Given the description of an element on the screen output the (x, y) to click on. 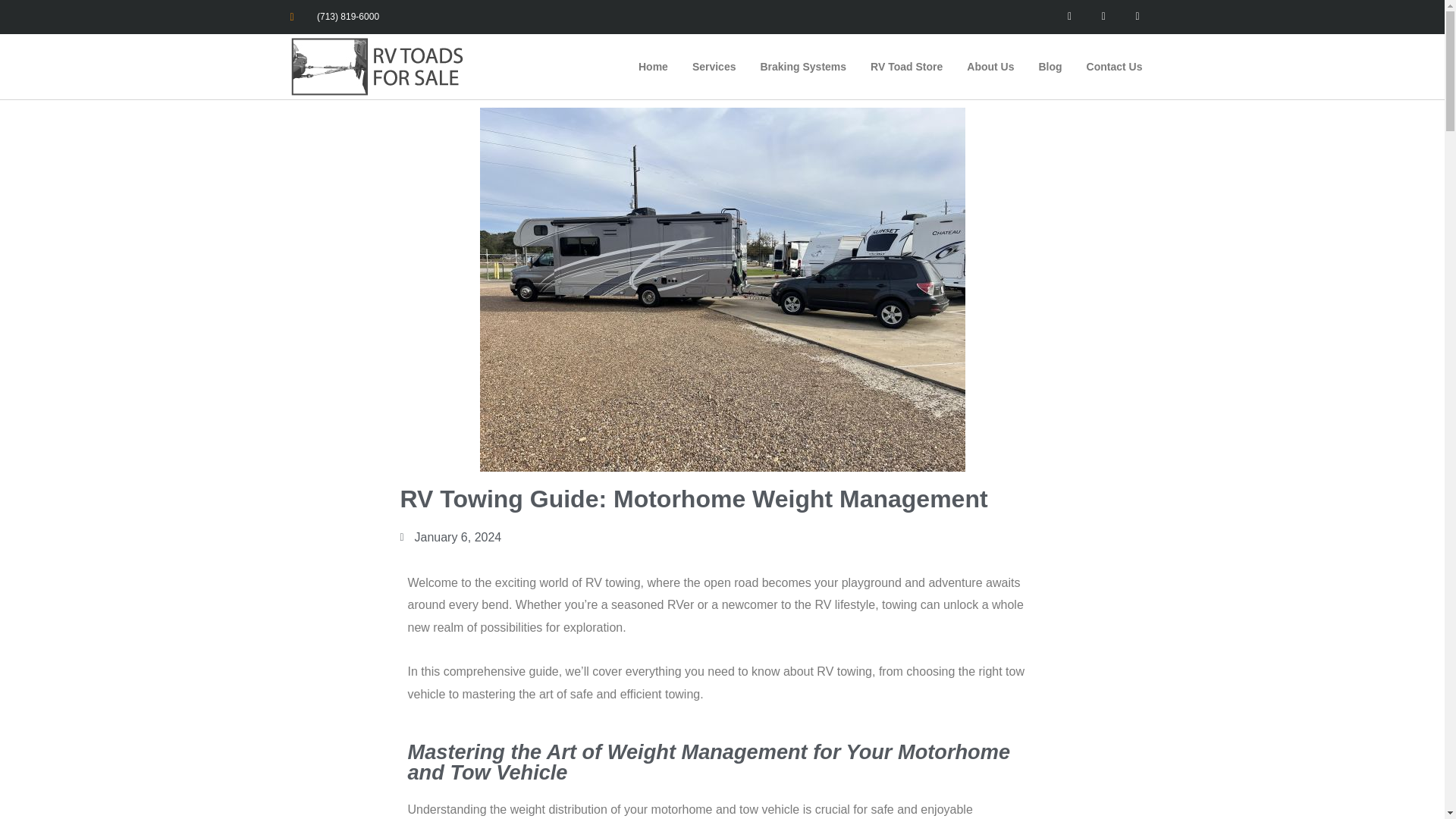
About Us (990, 66)
Services (713, 66)
Home (652, 66)
Braking Systems (803, 66)
Contact Us (1114, 66)
Blog (1050, 66)
Twitter (1103, 17)
Instagram (1137, 17)
RV Toad Store (907, 66)
Facebook-f (1069, 17)
January 6, 2024 (451, 537)
